Given the description of an element on the screen output the (x, y) to click on. 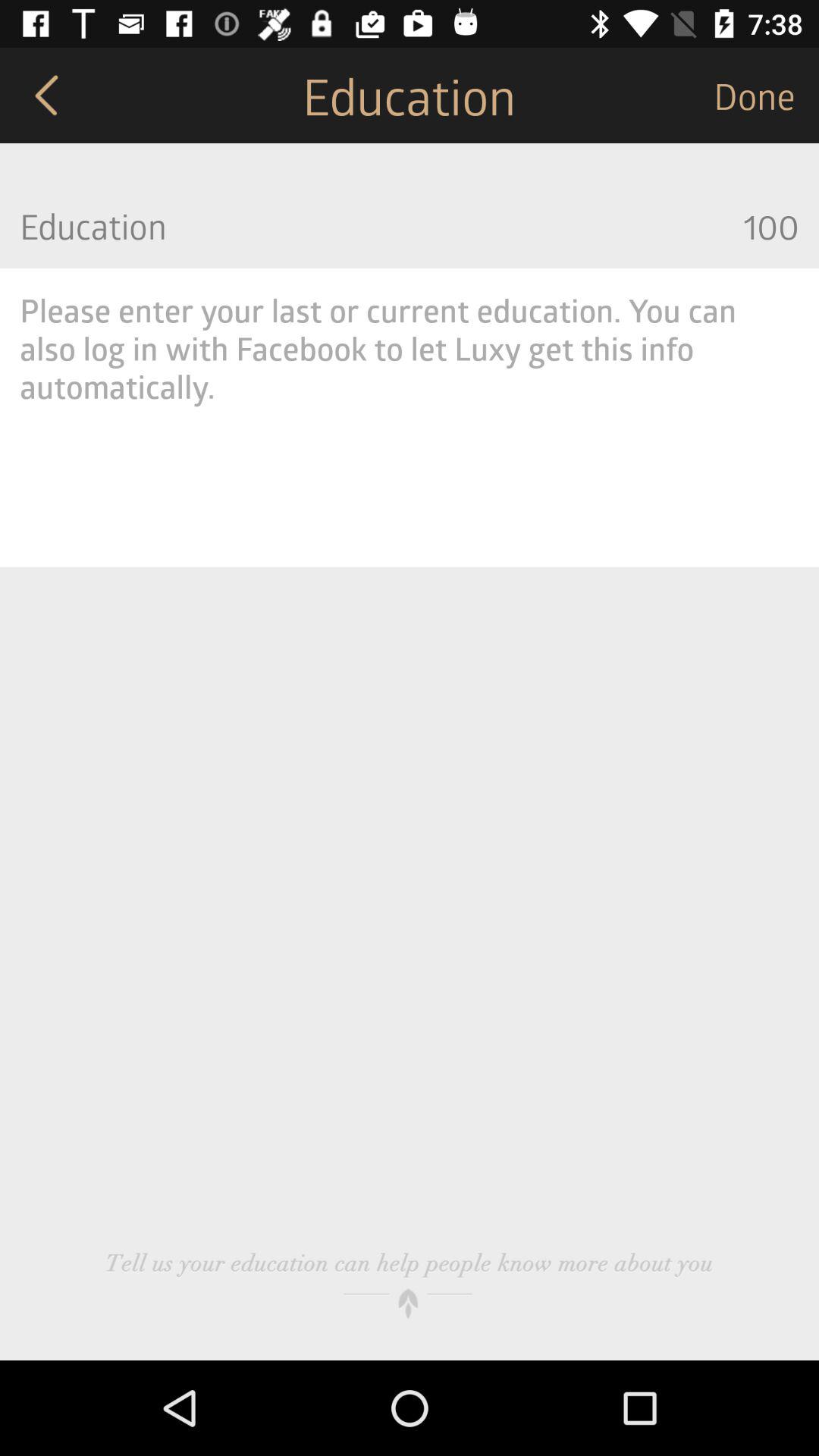
swipe until the done item (766, 95)
